Given the description of an element on the screen output the (x, y) to click on. 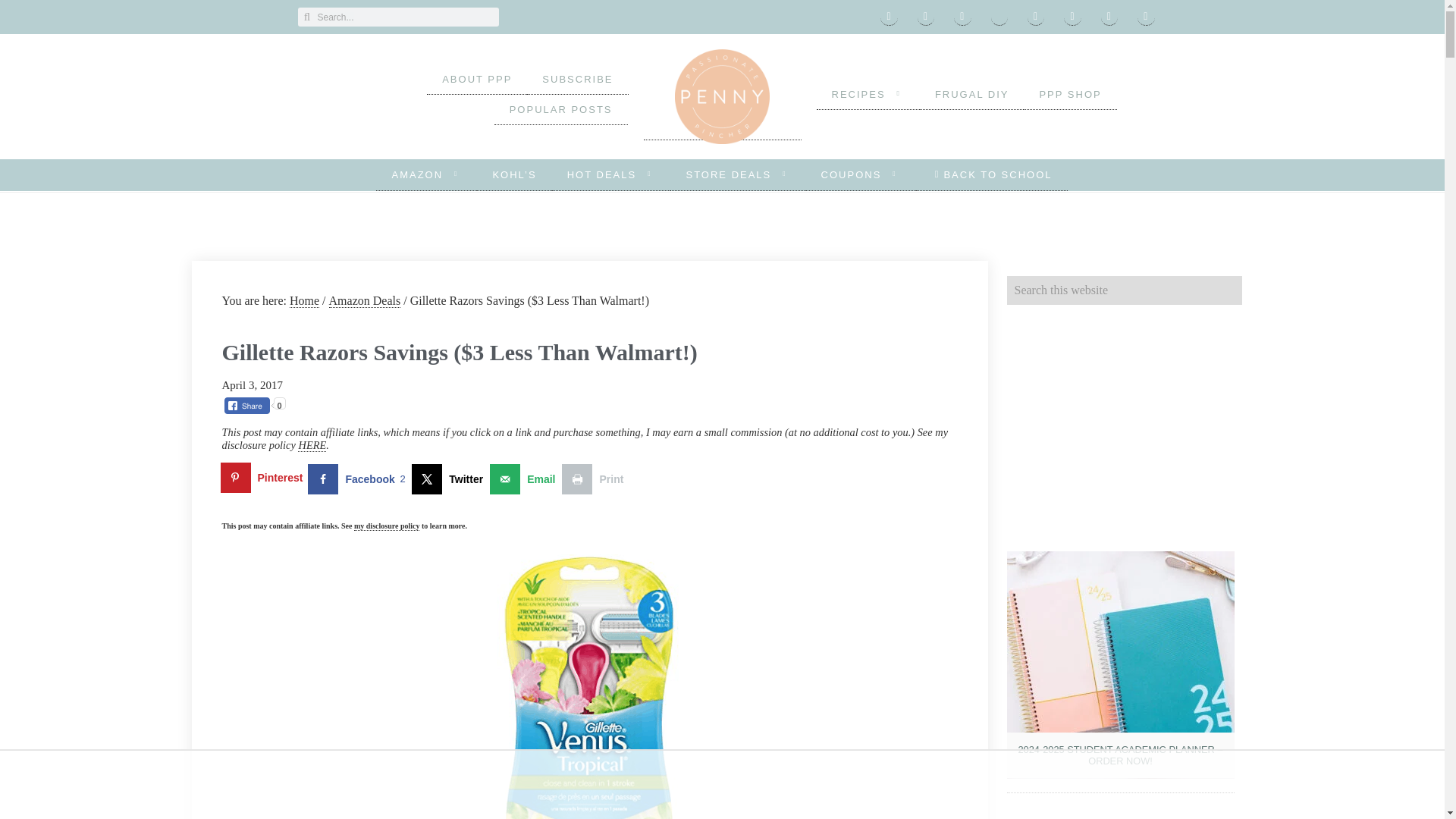
PPP SHOP (1069, 94)
ABOUT PPP (476, 79)
Send over email (525, 479)
Print this webpage (596, 479)
Share on X (450, 479)
AMAZON (426, 174)
Save to Pinterest (264, 479)
POPULAR POSTS (561, 110)
Share on Facebook (359, 479)
FRUGAL DIY (972, 94)
RECIPES (866, 94)
